Given the description of an element on the screen output the (x, y) to click on. 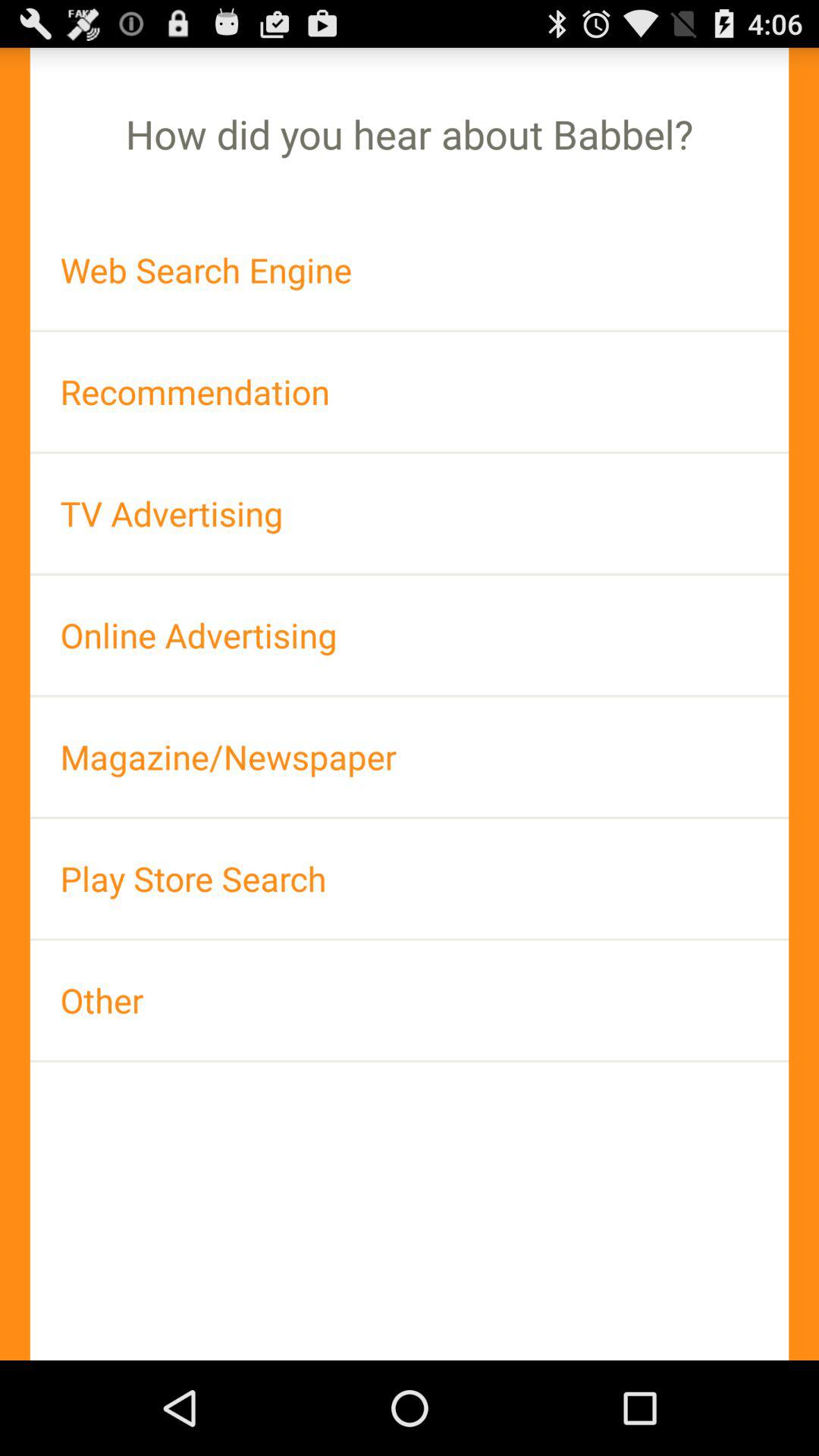
launch icon below web search engine (409, 391)
